Given the description of an element on the screen output the (x, y) to click on. 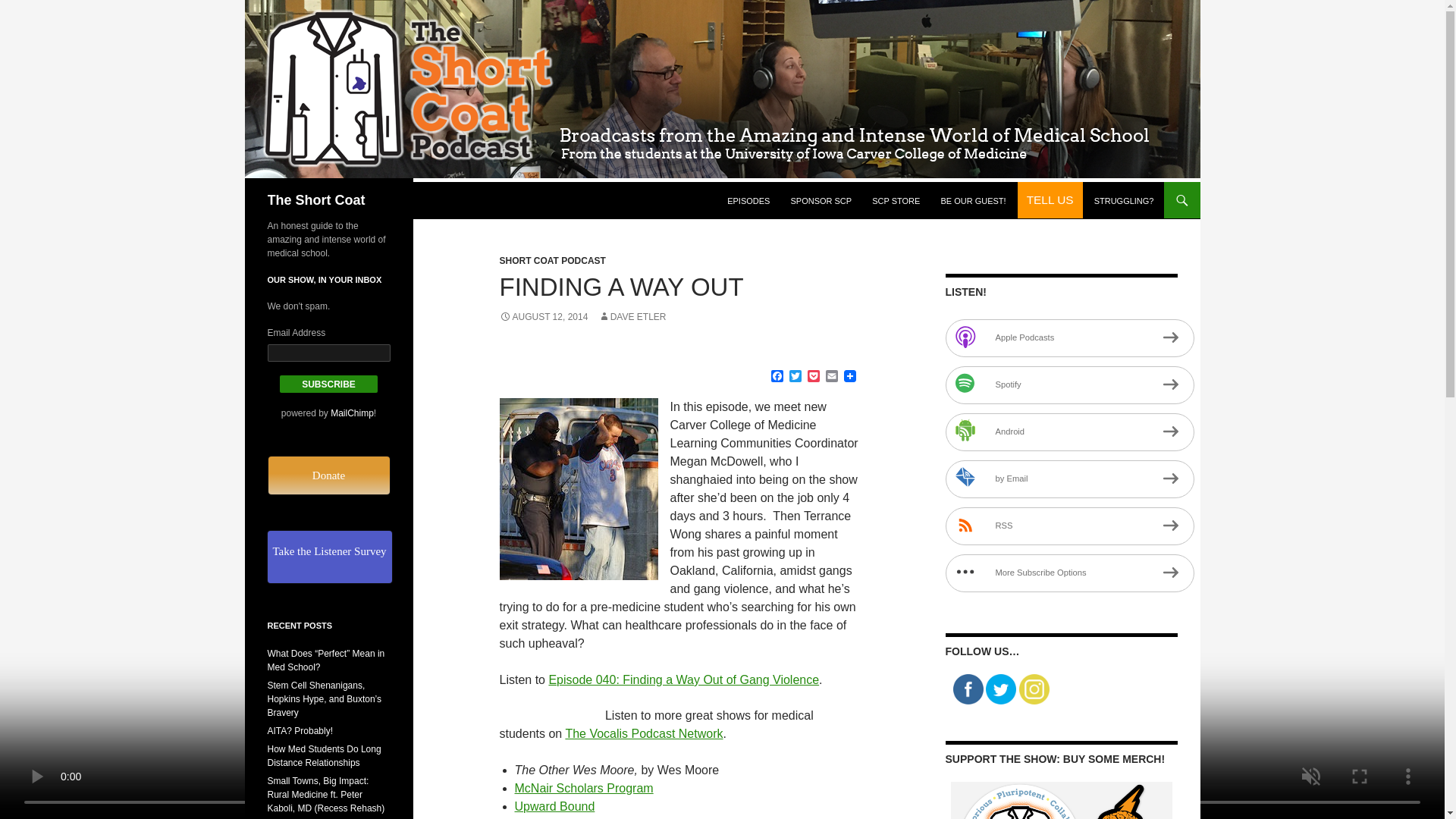
calltoaction (1050, 199)
The Short Coat (315, 199)
Facebook (776, 377)
Facebook (776, 377)
More Subscribe Options (1068, 573)
Twitter (794, 377)
Subscribe on Android (1068, 432)
Upward Bound (553, 806)
SCP STORE (895, 200)
BE OUR GUEST! (972, 200)
Subscribe on Spotify (1068, 385)
Subscribe (328, 384)
Pocket (812, 377)
Twitter (794, 377)
